Given the description of an element on the screen output the (x, y) to click on. 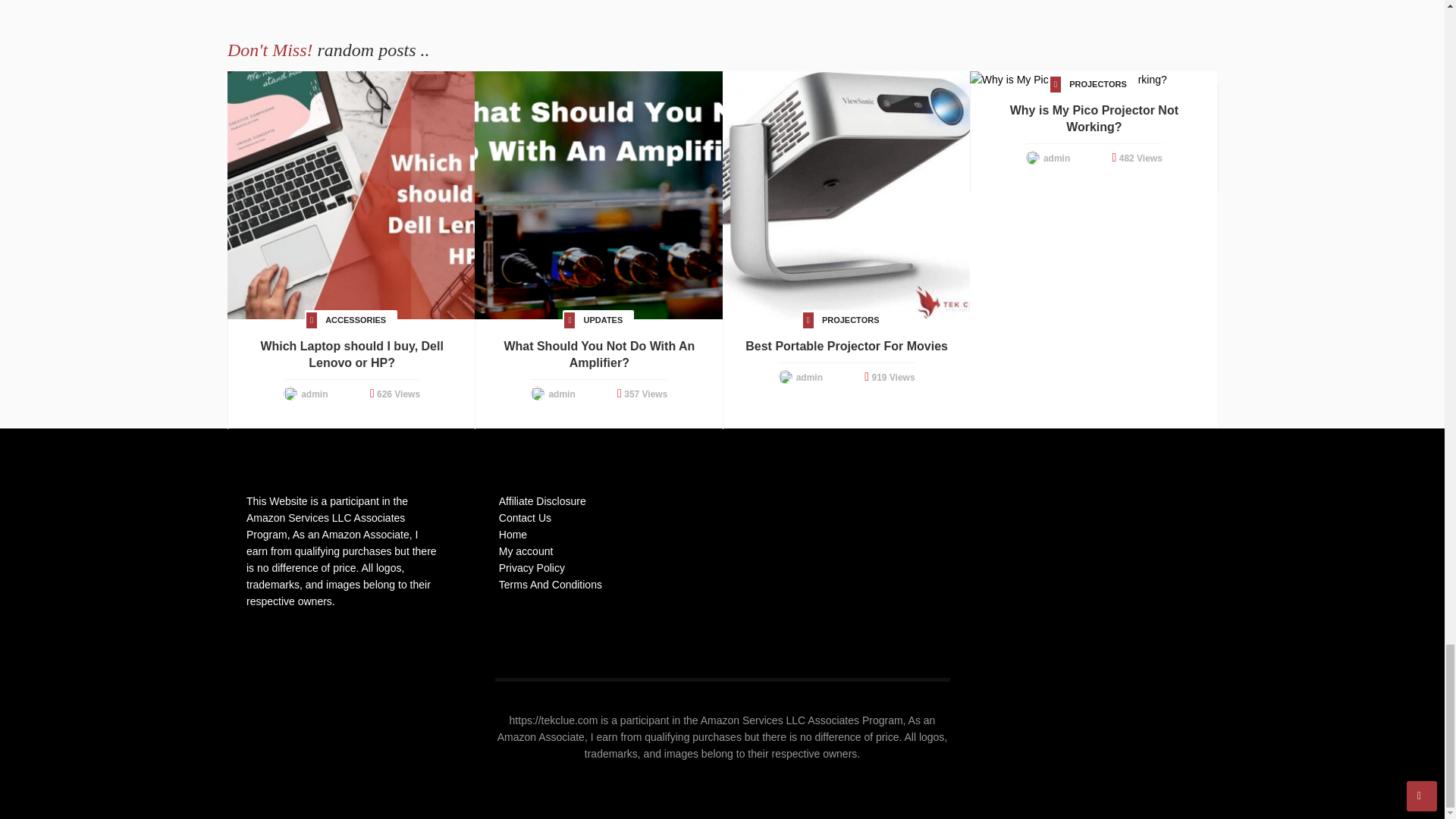
Posts by admin (809, 377)
Posts by admin (561, 394)
Posts by admin (1056, 158)
Posts by admin (314, 394)
